Given the description of an element on the screen output the (x, y) to click on. 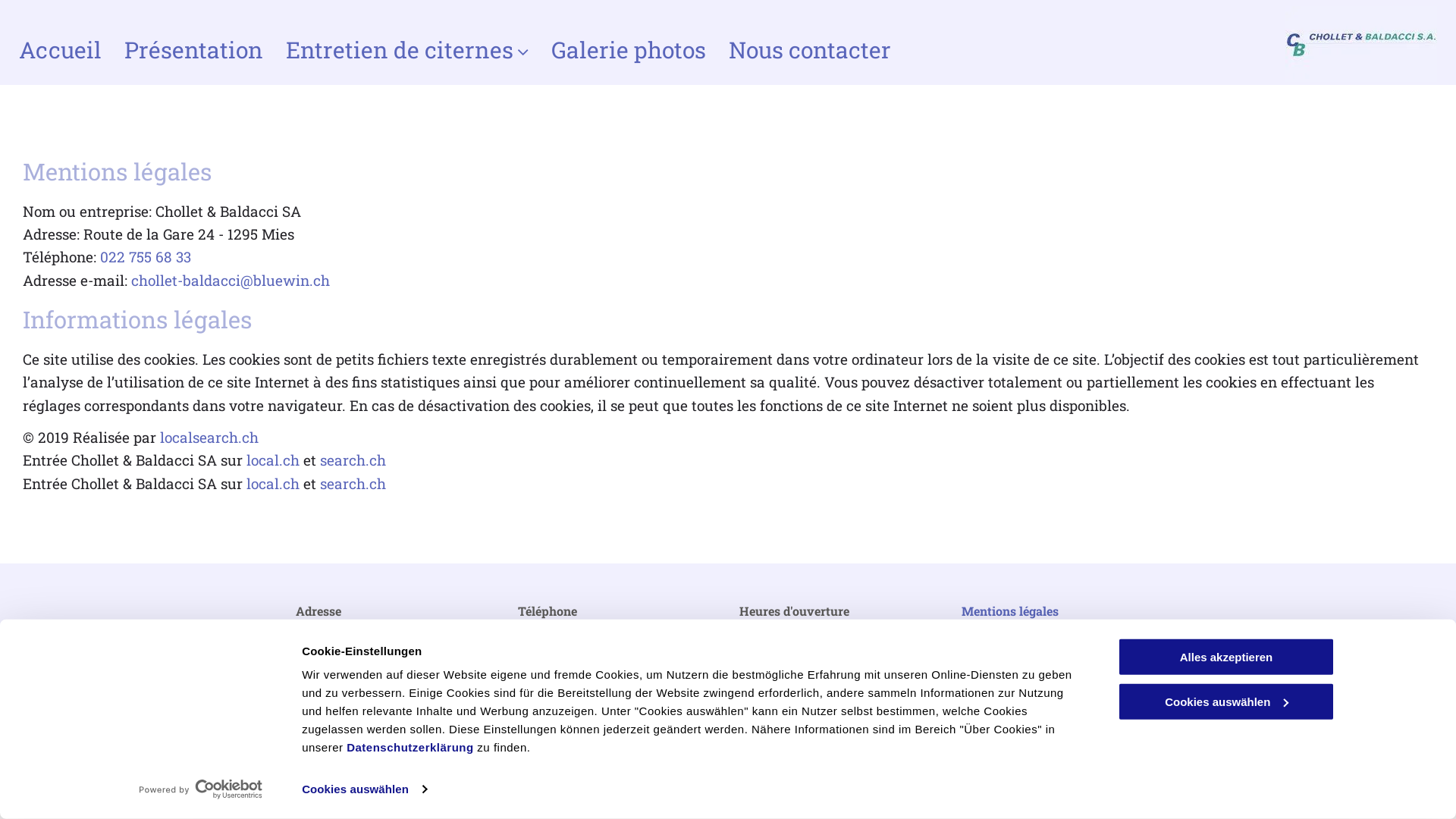
local.ch Element type: text (272, 482)
Galerie photos Element type: text (628, 50)
chollet-baldacci@bluewin.ch Element type: text (599, 688)
chollet-baldacci@bluewin.ch Element type: text (230, 279)
localsearch.ch Element type: text (209, 436)
search.ch Element type: text (352, 459)
Nous contacter Element type: text (809, 50)
022 341 05 48 Element type: text (554, 630)
Alles akzeptieren Element type: text (1225, 656)
022 755 68 33 Element type: text (145, 256)
Accueil Element type: text (59, 50)
local.ch Element type: text (272, 459)
search.ch Element type: text (352, 482)
Entretien de citernes Element type: text (406, 50)
